Given the description of an element on the screen output the (x, y) to click on. 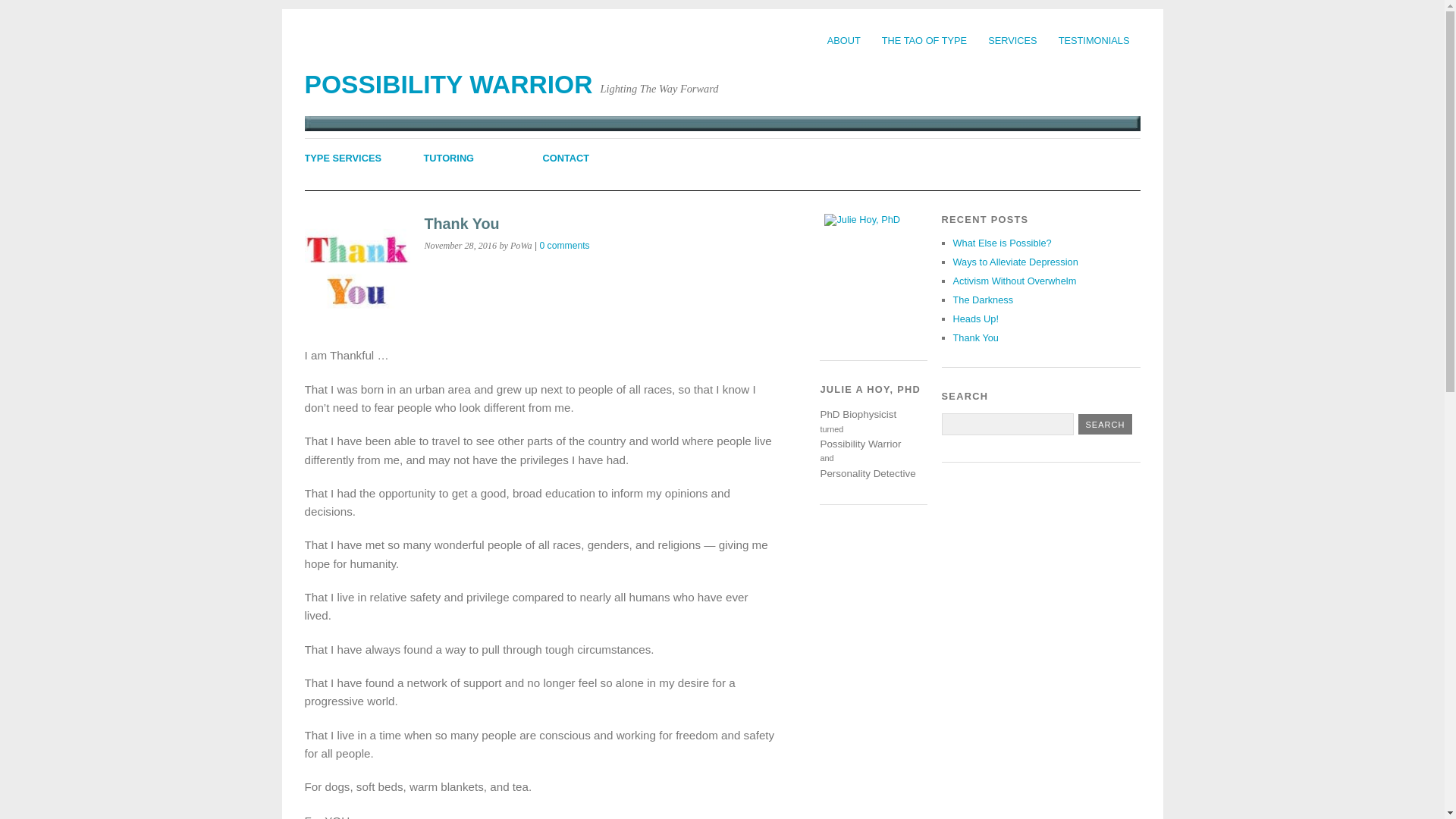
POSSIBILITY WARRIOR (448, 84)
SERVICES (1011, 40)
Search (1105, 424)
TUTORING (448, 157)
CONTACT (565, 157)
ABOUT (843, 40)
Search (1105, 424)
TYPE SERVICES (342, 157)
0 comments (563, 245)
TESTIMONIALS (1094, 40)
